Given the description of an element on the screen output the (x, y) to click on. 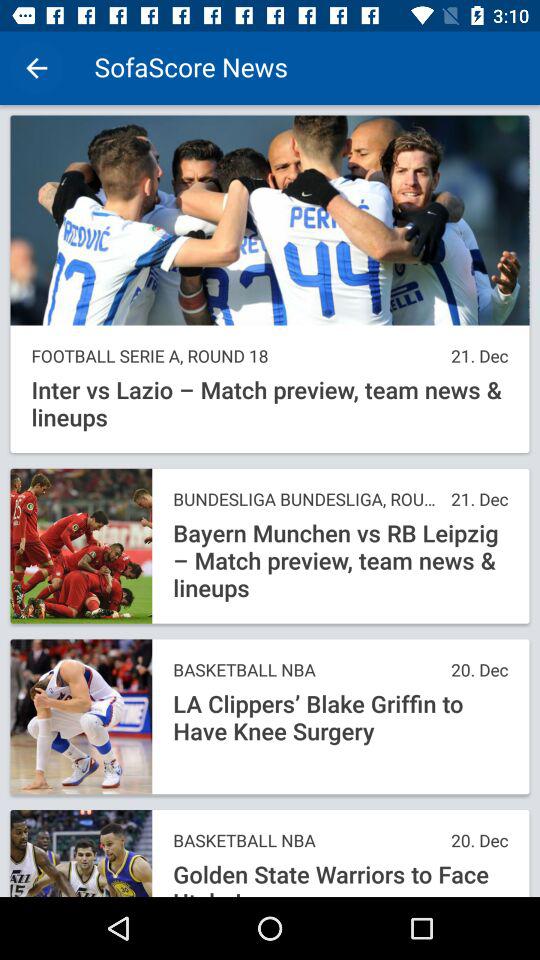
swipe to the la clippers blake (340, 718)
